Given the description of an element on the screen output the (x, y) to click on. 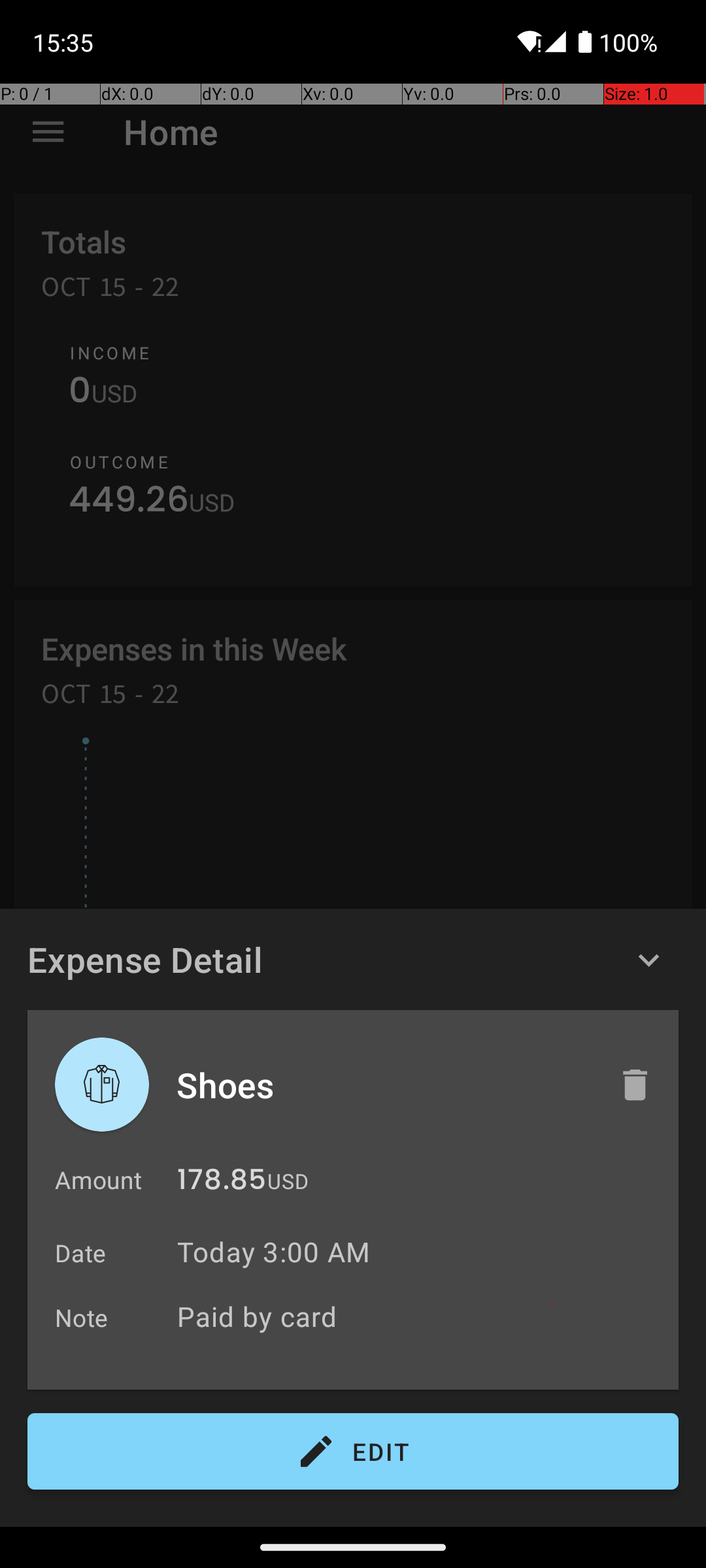
Shoes Element type: android.widget.TextView (383, 1084)
178.85 Element type: android.widget.TextView (221, 1182)
Today 3:00 AM Element type: android.widget.TextView (273, 1251)
